Given the description of an element on the screen output the (x, y) to click on. 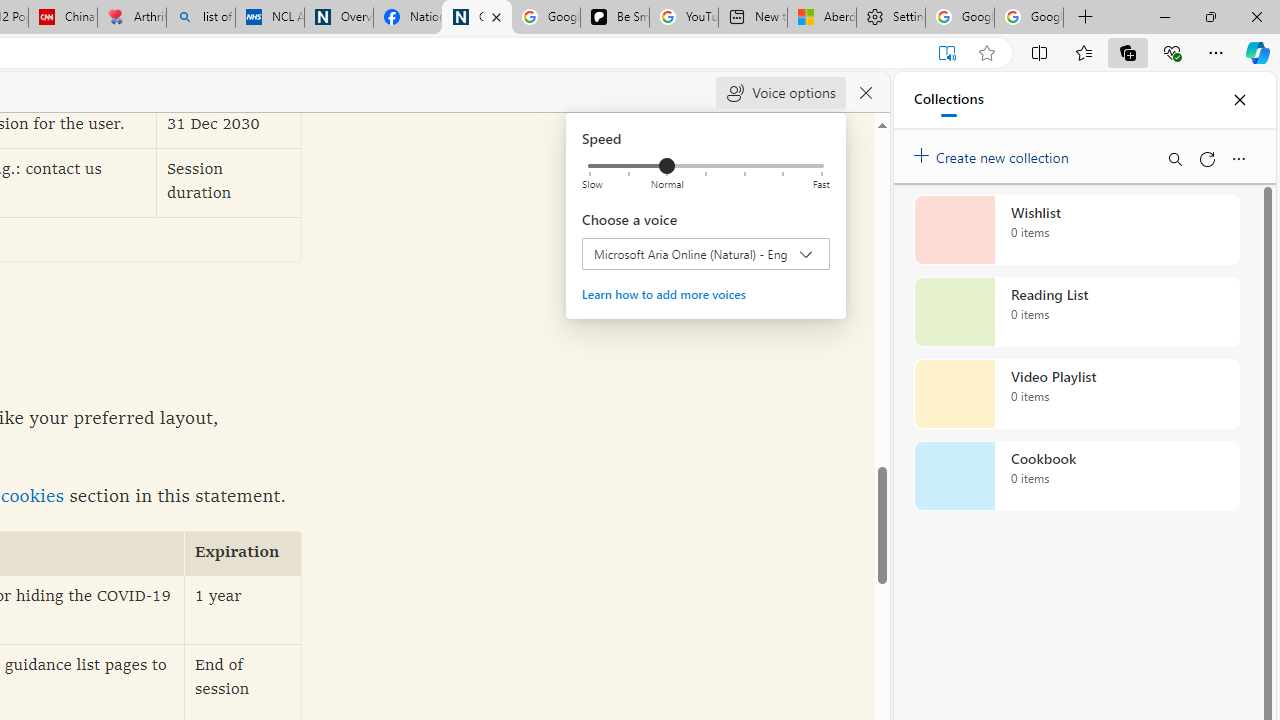
list of asthma inhalers uk - Search (200, 17)
Aberdeen, Hong Kong SAR hourly forecast | Microsoft Weather (822, 17)
31 Dec 2030 (229, 125)
Create new collection (994, 153)
1 year (243, 610)
